Given the description of an element on the screen output the (x, y) to click on. 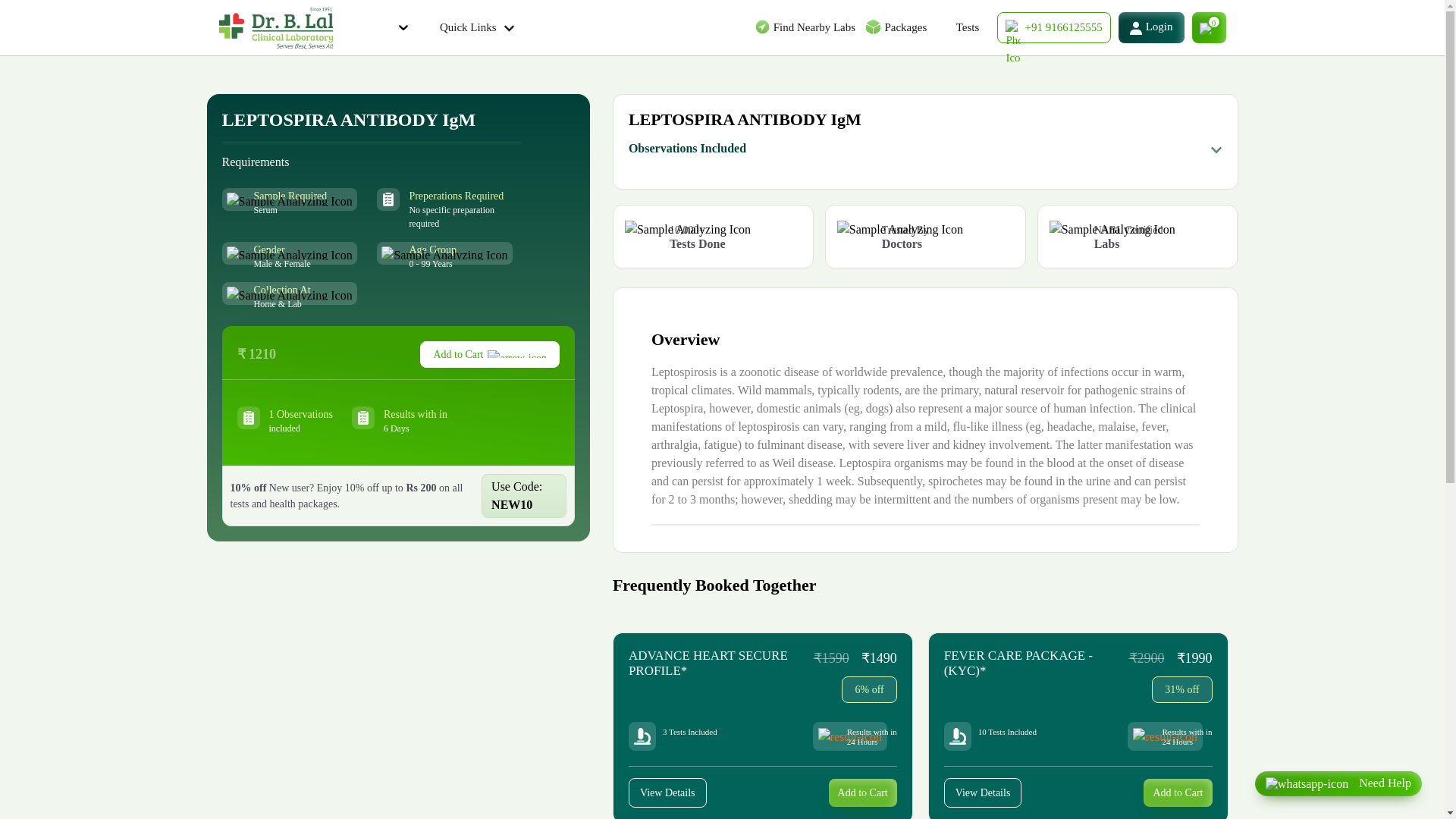
Quick Links (476, 26)
0 (1208, 27)
Find Nearby Labs (814, 26)
Packages (904, 26)
Login (1151, 27)
Tests (966, 26)
